Given the description of an element on the screen output the (x, y) to click on. 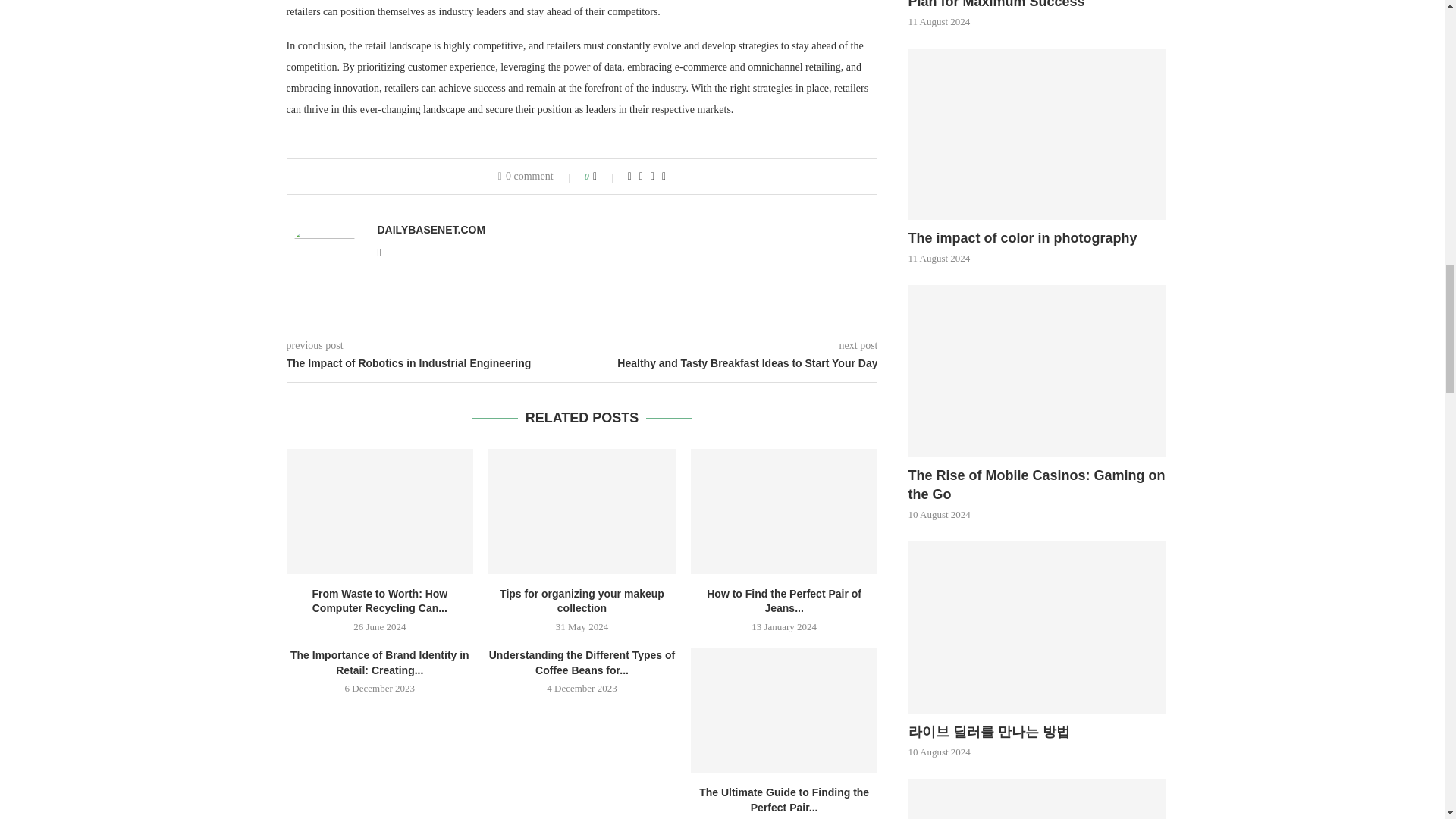
The Rise of Mobile Casinos: Gaming on the Go (1037, 485)
How to Find the Perfect Pair of Jeans for Your Body Type (783, 510)
The Impact of Robotics in Industrial Engineering (434, 363)
The impact of color in photography (1037, 238)
Author dailybasenet.com (431, 229)
The Rise of Mobile Casinos: Gaming on the Go (1037, 371)
The impact of color in photography (1037, 134)
Like (604, 176)
The Ultimate Guide to Finding the Perfect Pair of Jeans (783, 710)
